Given the description of an element on the screen output the (x, y) to click on. 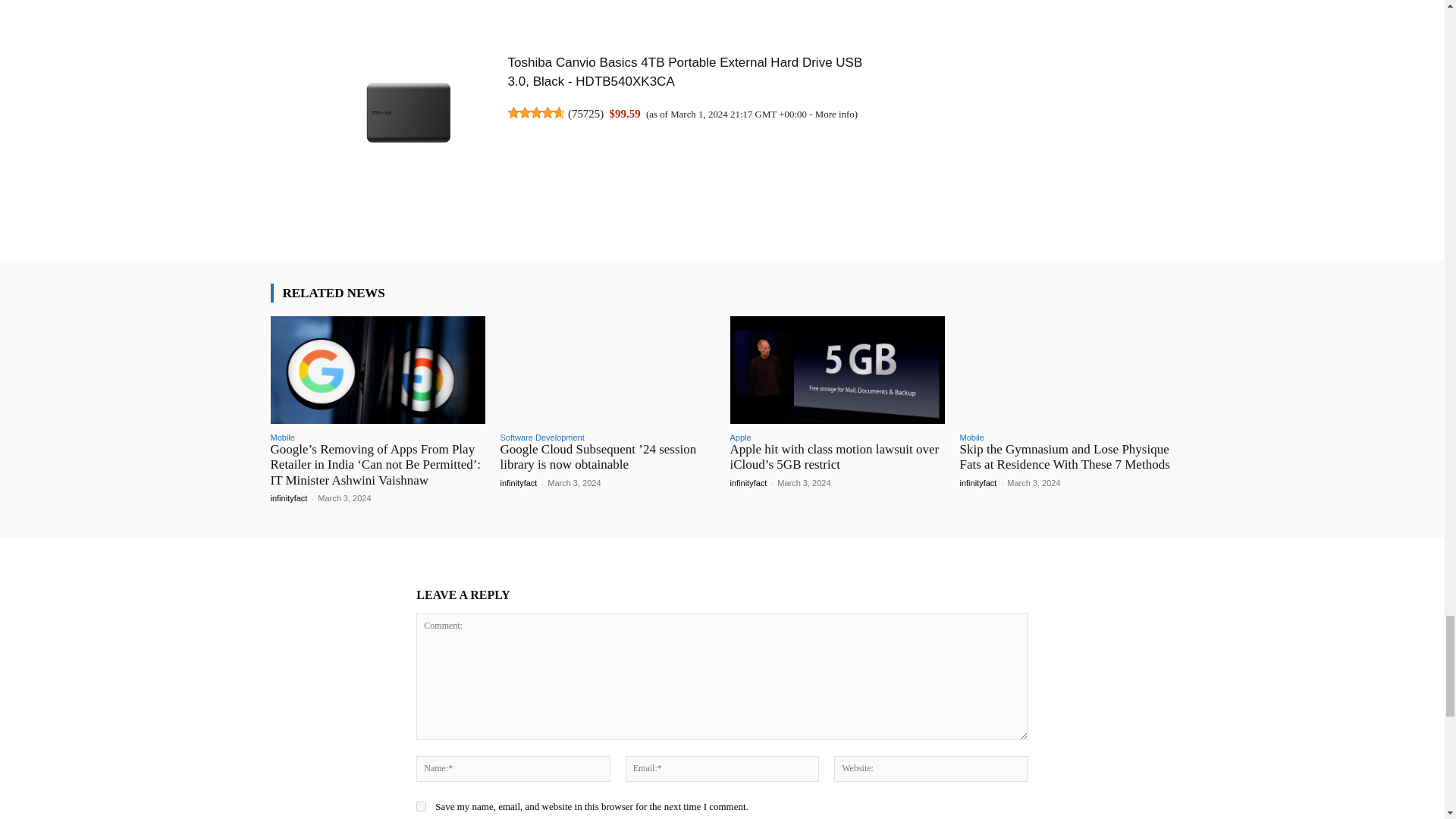
yes (421, 806)
